Given the description of an element on the screen output the (x, y) to click on. 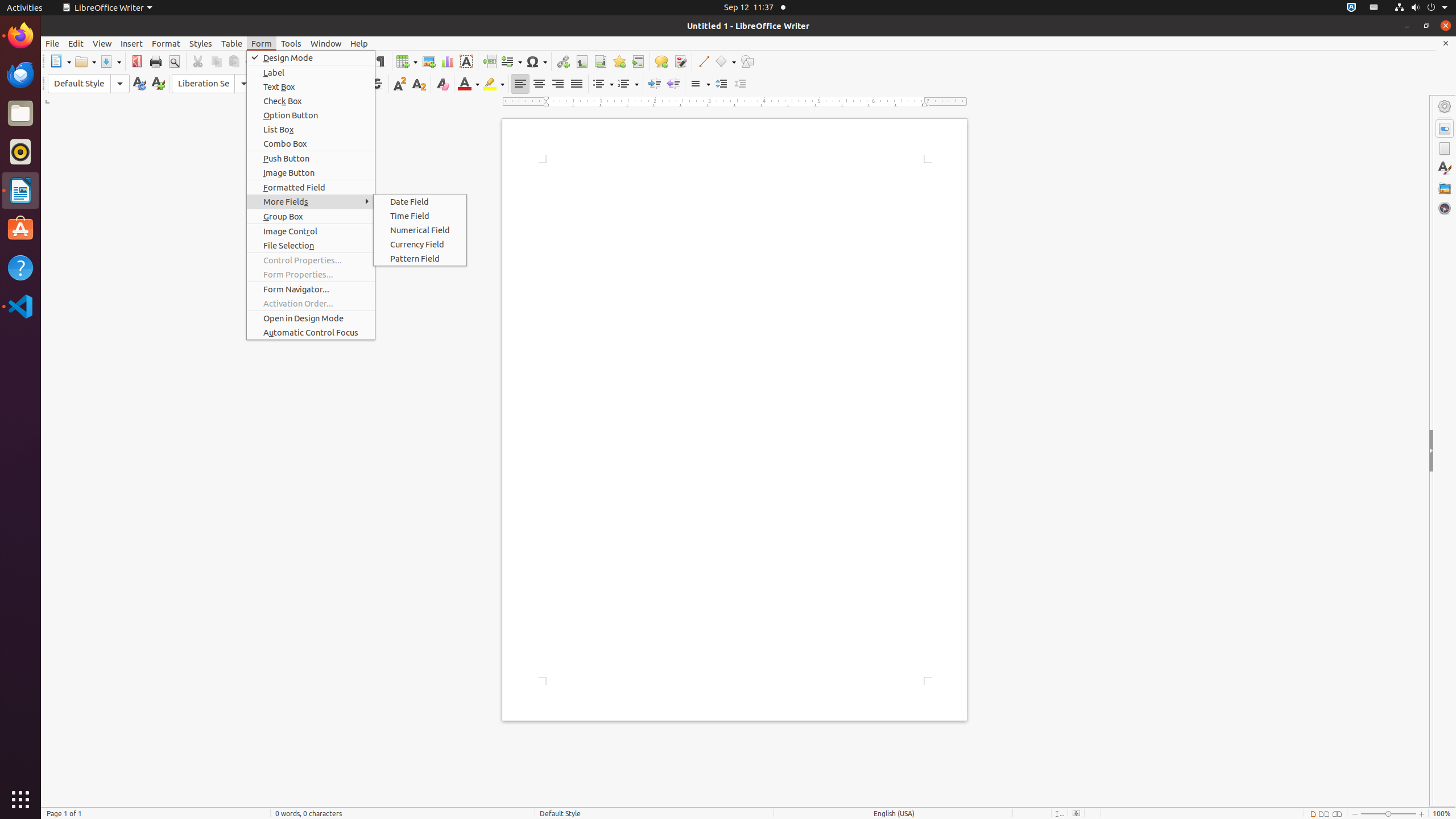
Gallery Element type: radio-button (1444, 188)
Numerical Field Element type: check-menu-item (419, 229)
Symbol Element type: push-button (535, 61)
More Fields Element type: menu (310, 201)
Page Break Element type: push-button (489, 61)
